Given the description of an element on the screen output the (x, y) to click on. 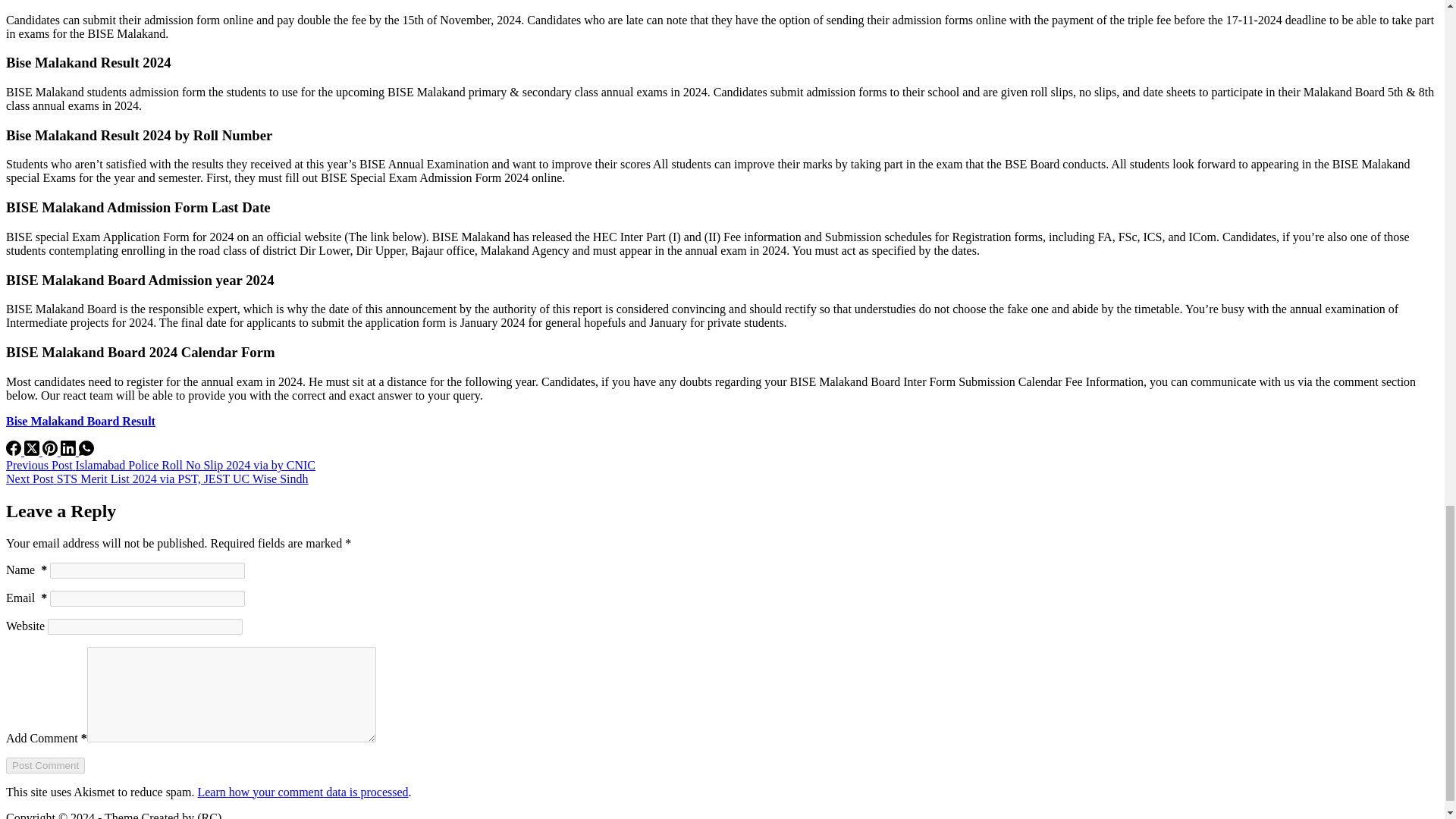
Post Comment (44, 765)
Bise Malakand Board Result (80, 420)
Learn how your comment data is processed (301, 791)
